Given the description of an element on the screen output the (x, y) to click on. 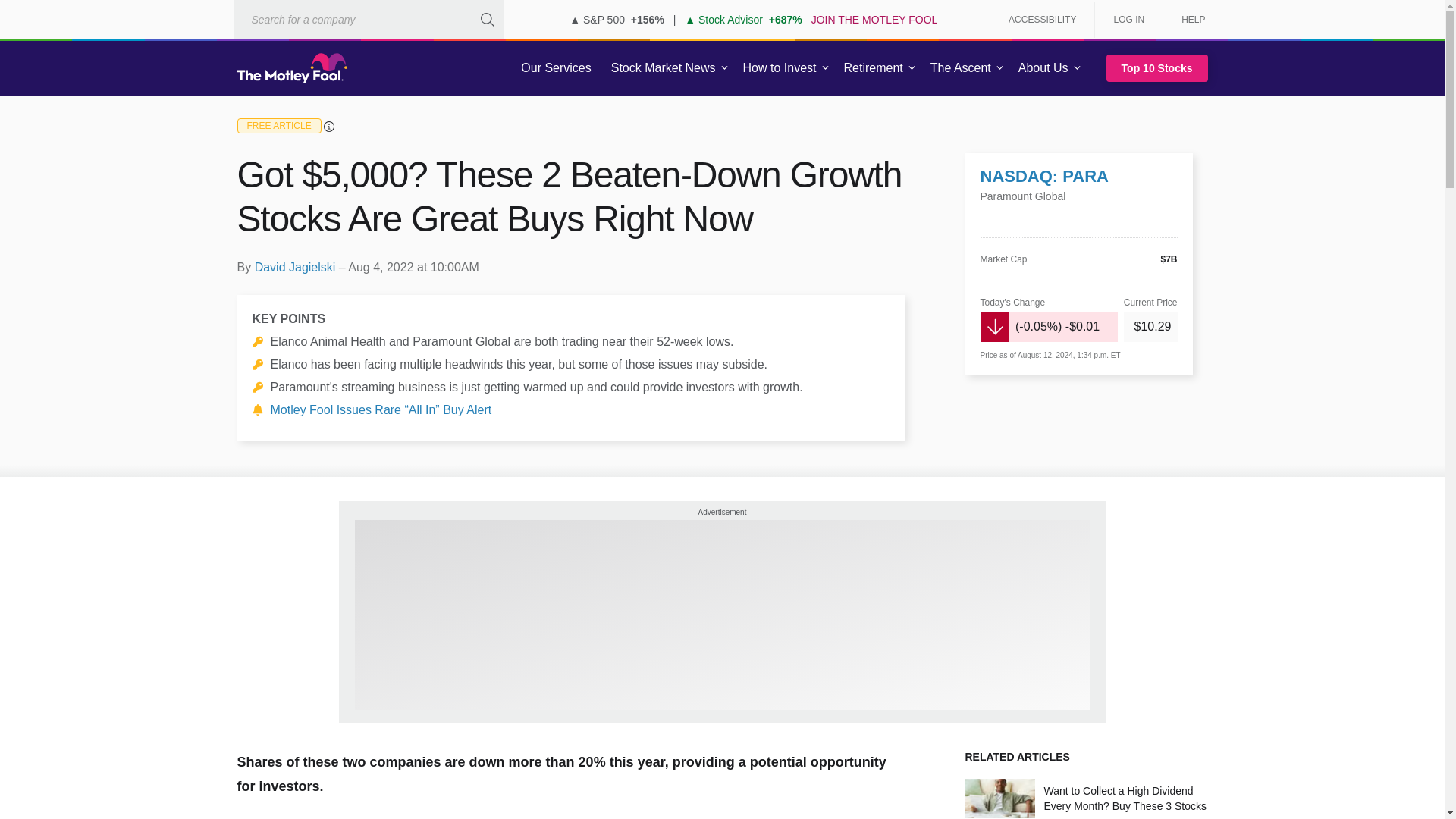
HELP (1187, 19)
Our Services (555, 67)
How to Invest (779, 67)
LOG IN (1128, 19)
Stock Market News (662, 67)
ACCESSIBILITY (1042, 19)
